Given the description of an element on the screen output the (x, y) to click on. 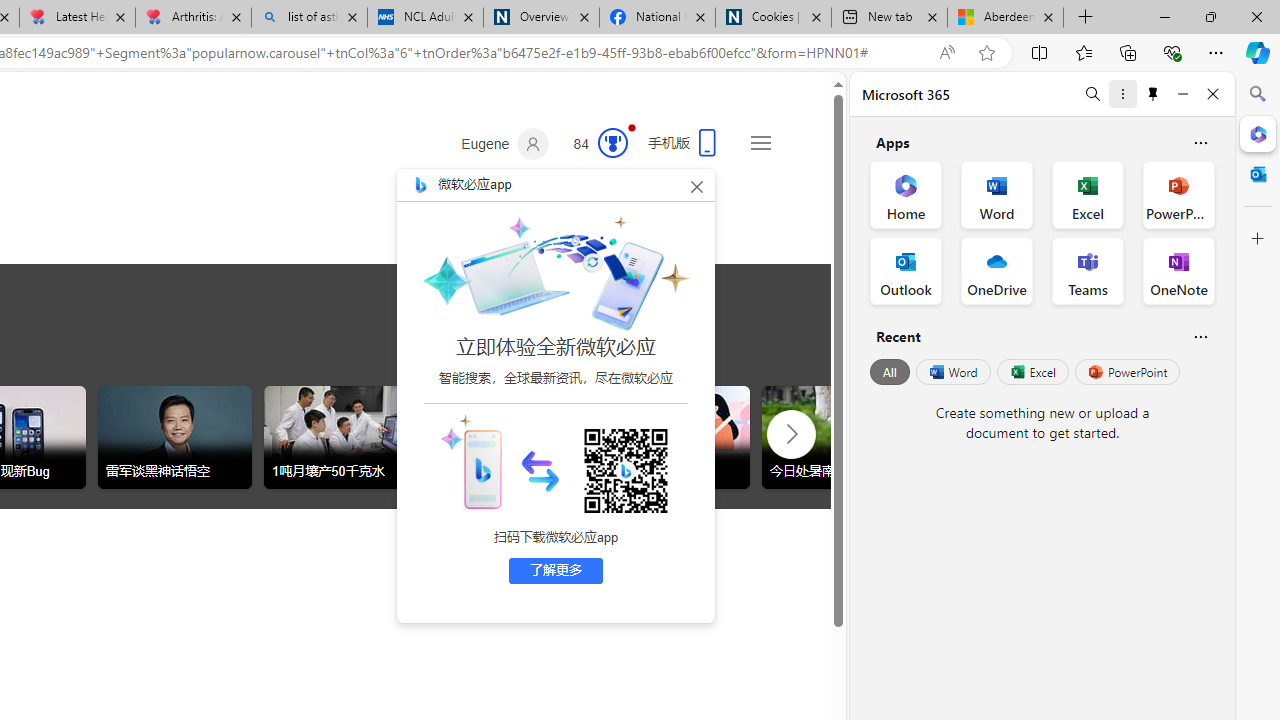
Settings and quick links (760, 142)
Teams Office App (1087, 270)
